Given the description of an element on the screen output the (x, y) to click on. 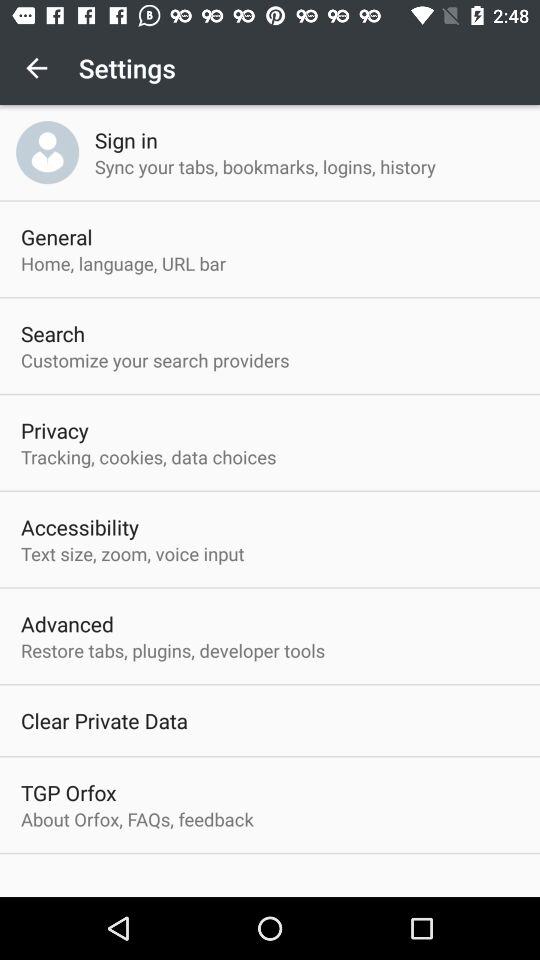
swipe until privacy app (54, 430)
